Given the description of an element on the screen output the (x, y) to click on. 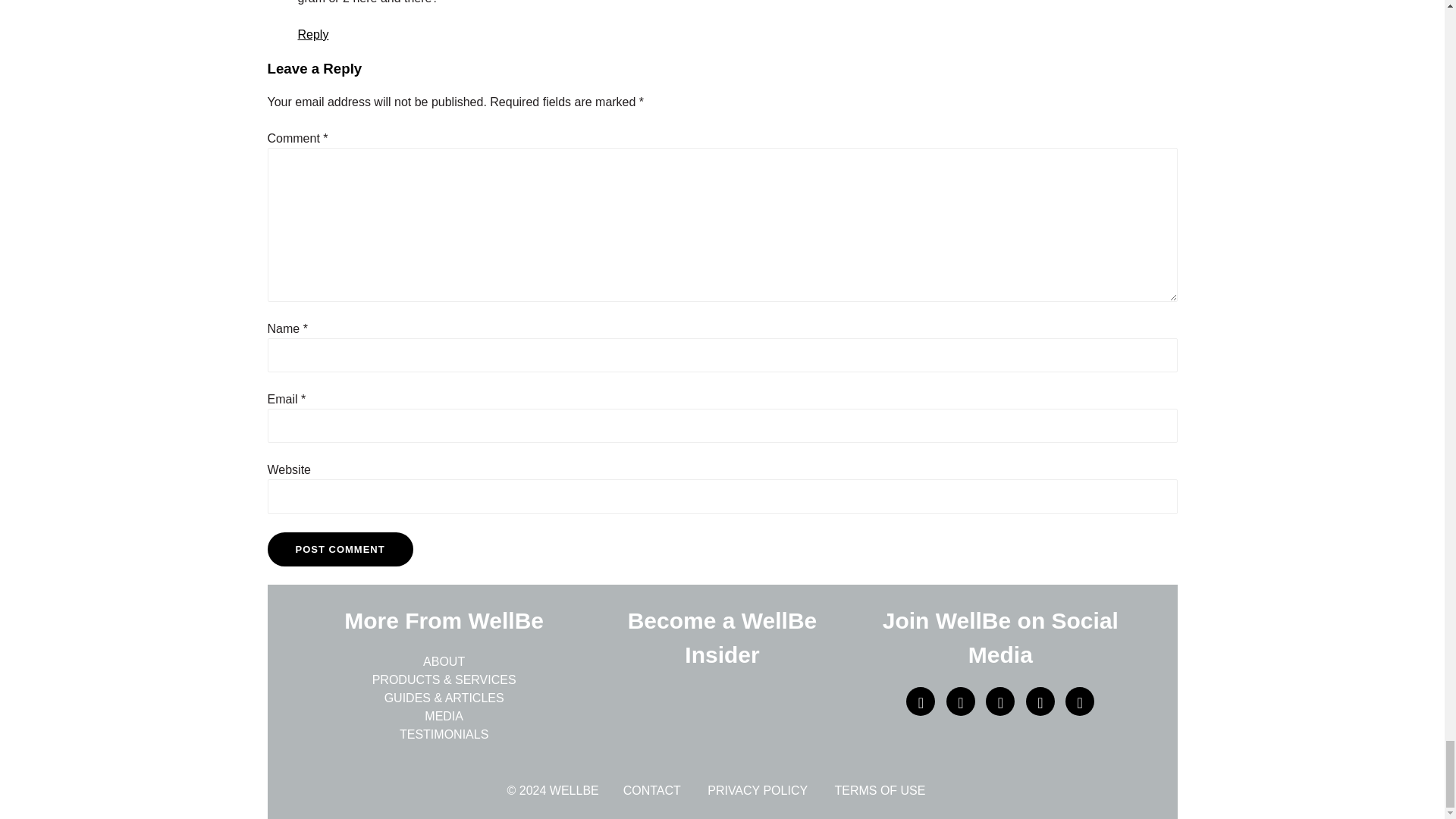
Post Comment (339, 549)
